Given the description of an element on the screen output the (x, y) to click on. 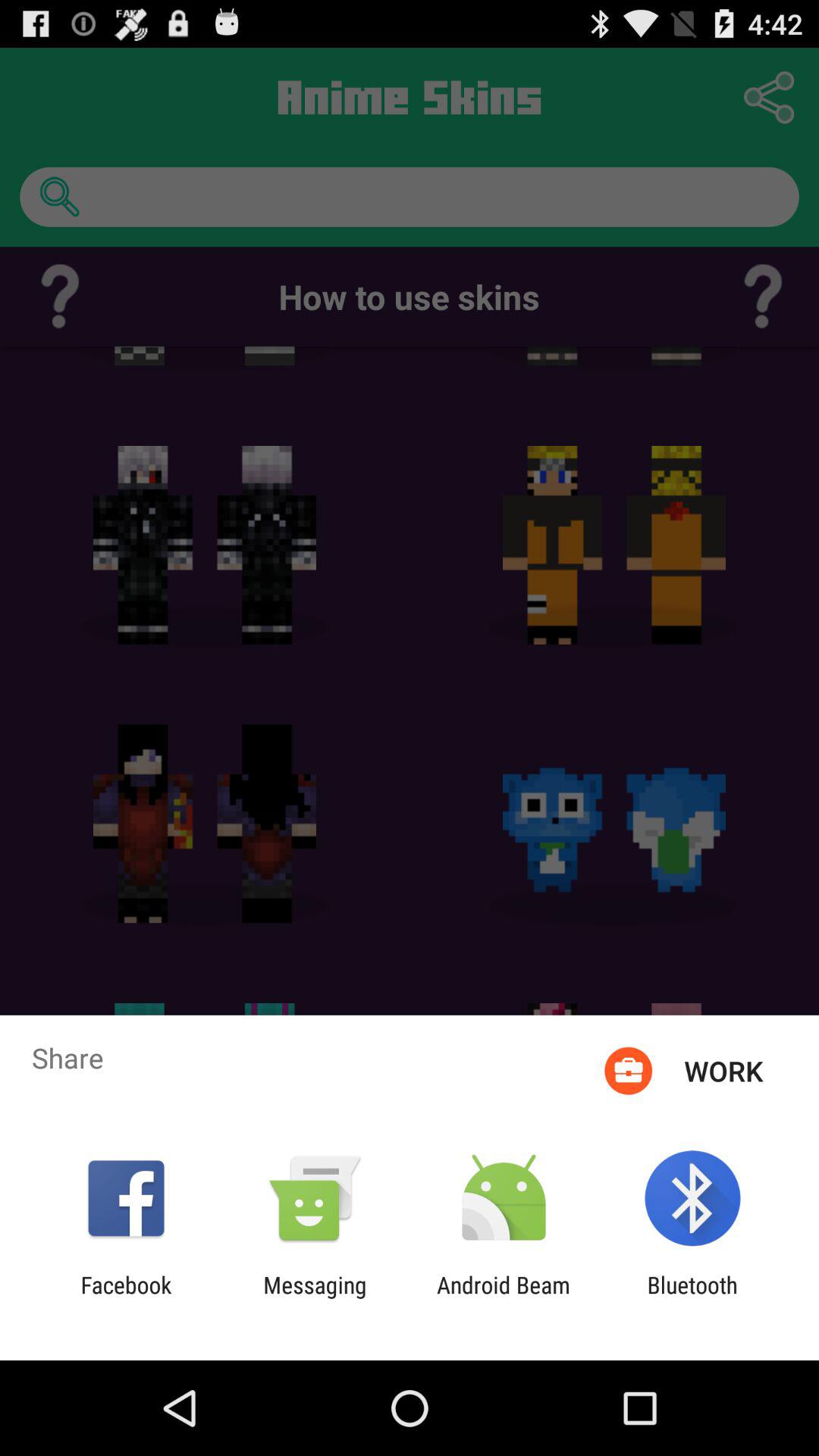
launch the icon next to android beam (692, 1298)
